Given the description of an element on the screen output the (x, y) to click on. 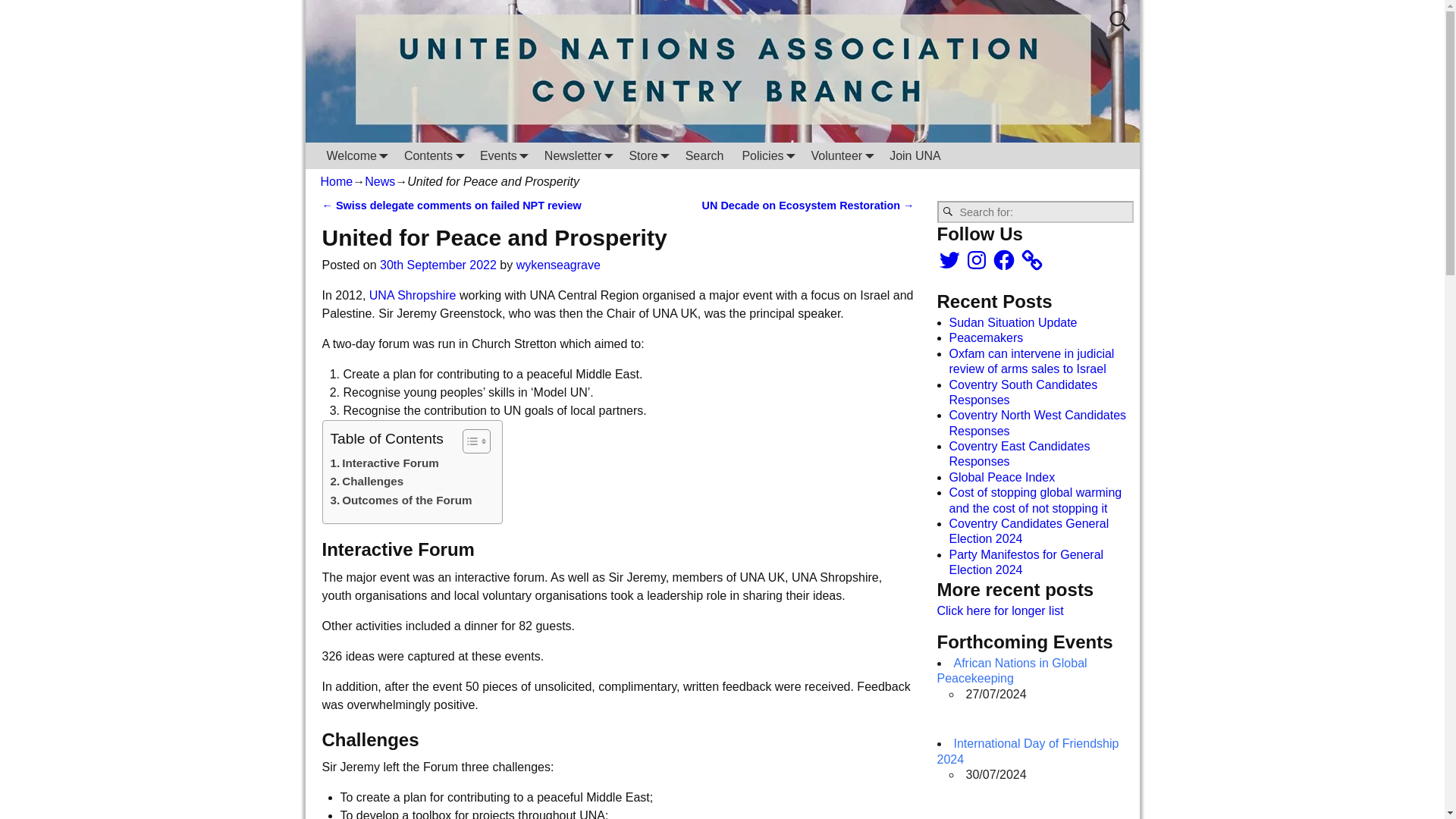
Interactive Forum (384, 463)
Contents (432, 155)
Store (647, 155)
Welcome (355, 155)
Policies (767, 155)
Newsletter (577, 155)
Search (705, 155)
View all posts by wykenseagrave (557, 264)
Events (502, 155)
5:36 am (438, 264)
Challenges (367, 481)
Outcomes of the Forum (400, 500)
